Given the description of an element on the screen output the (x, y) to click on. 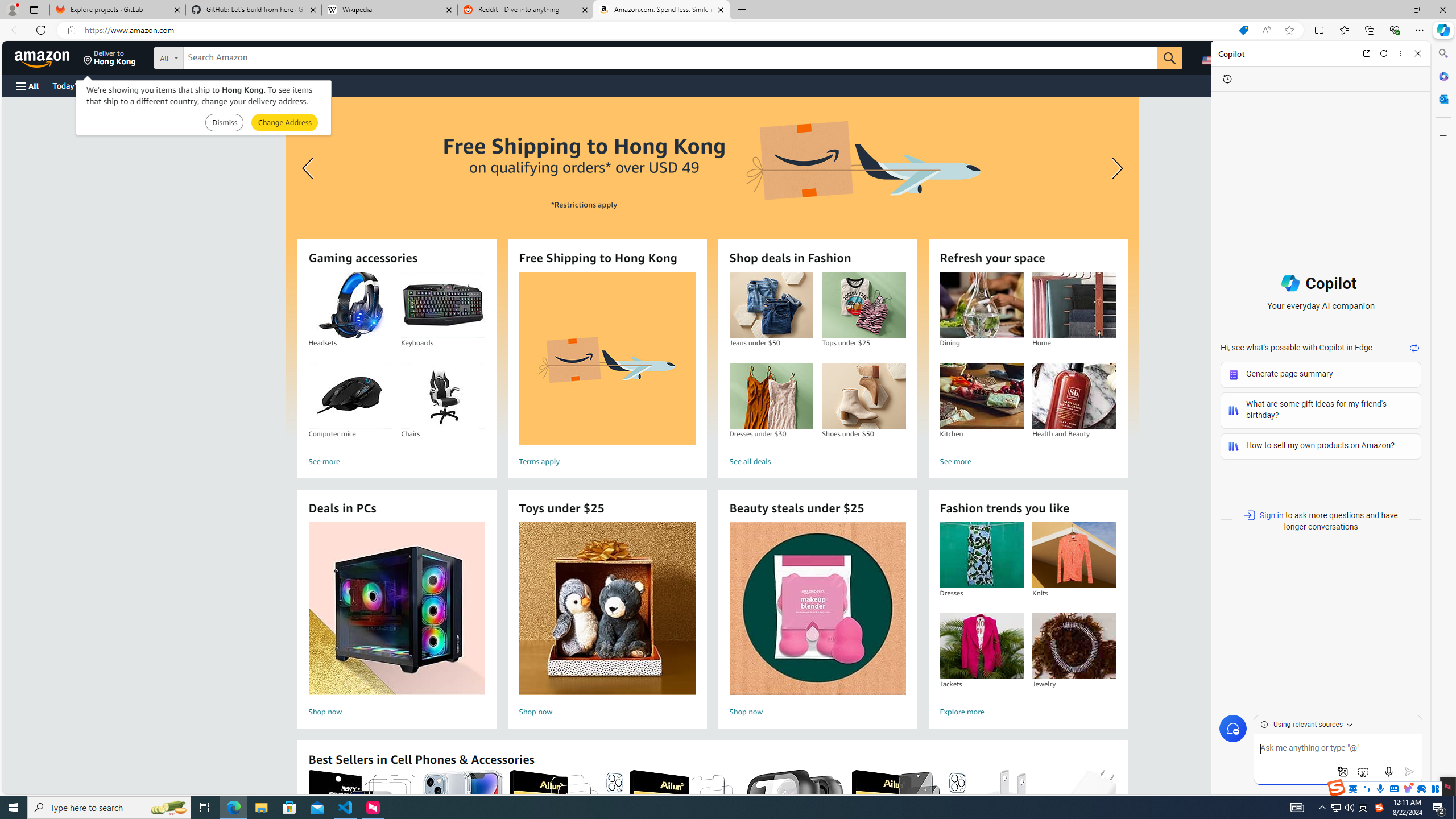
Hello, sign in Account & Lists (1278, 57)
Free Shipping to Hong Kong Learn more (711, 267)
Jewelry (1074, 645)
Search Amazon (670, 57)
